Given the description of an element on the screen output the (x, y) to click on. 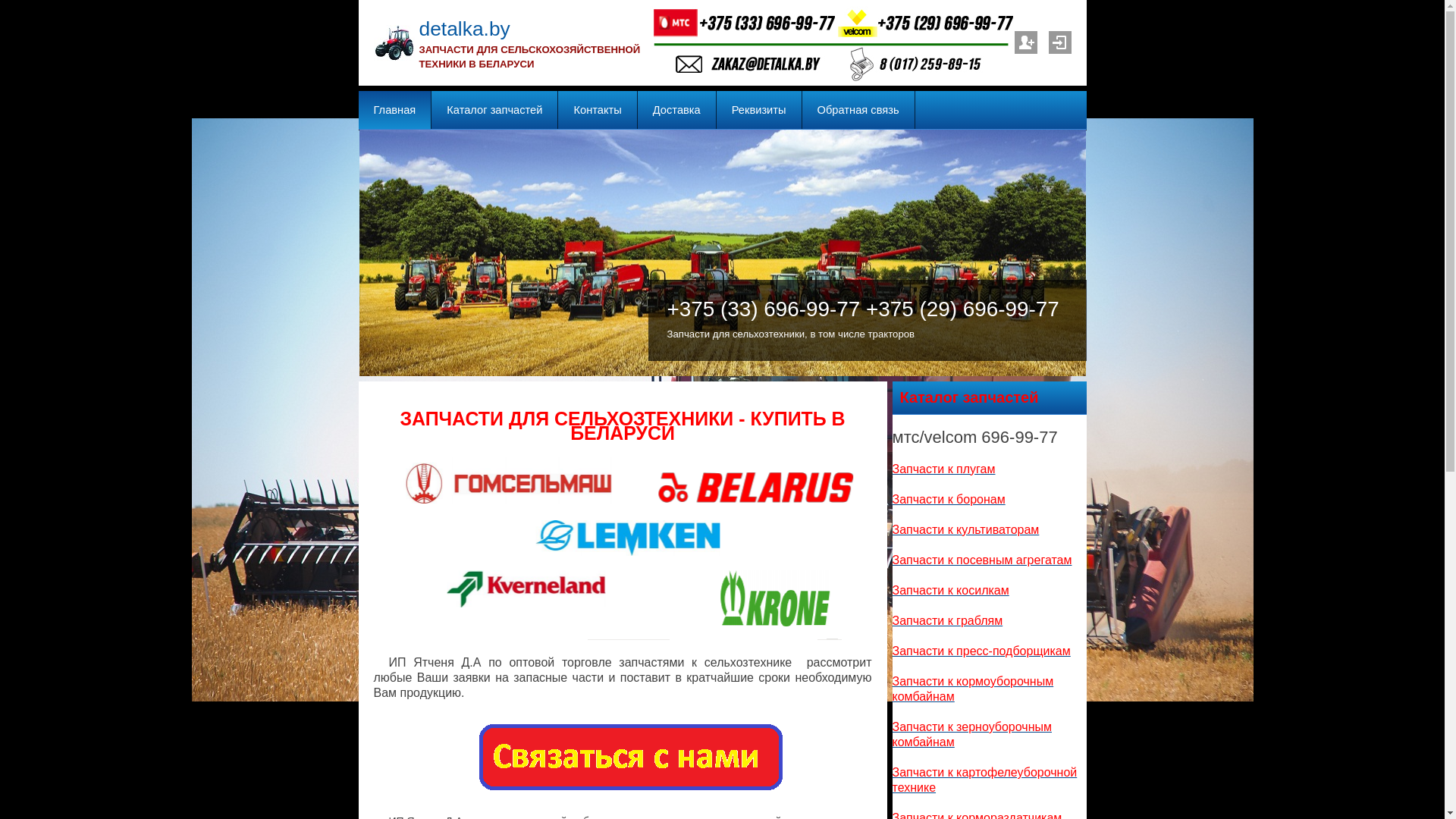
detalka.by Element type: text (463, 28)
